Given the description of an element on the screen output the (x, y) to click on. 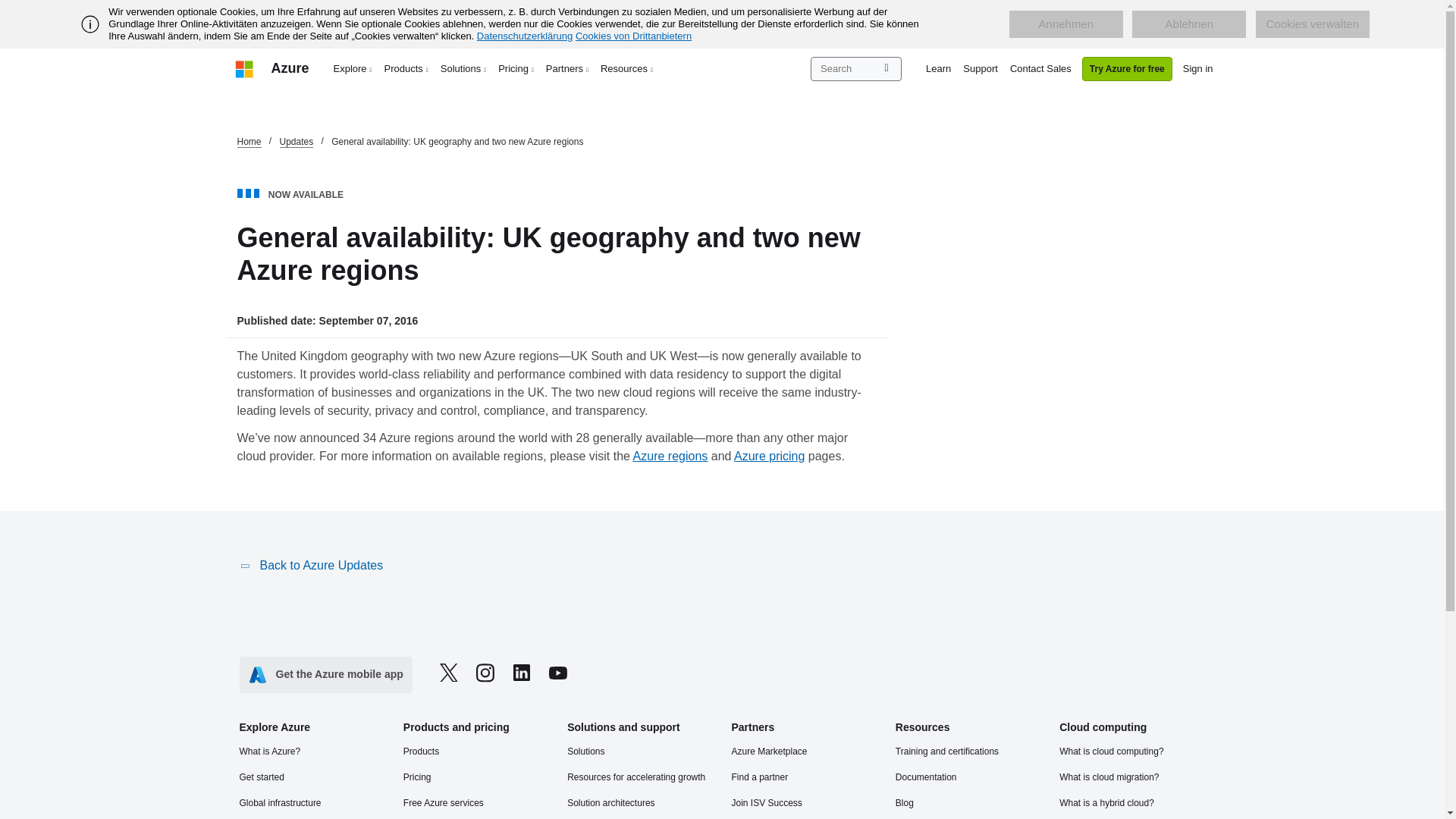
Azure (289, 68)
Cookies von Drittanbietern (633, 35)
Annehmen (1065, 23)
Ablehnen (1189, 23)
Cookies verwalten (1312, 23)
Skip to main content (7, 7)
Explore (352, 68)
Products (405, 68)
